Given the description of an element on the screen output the (x, y) to click on. 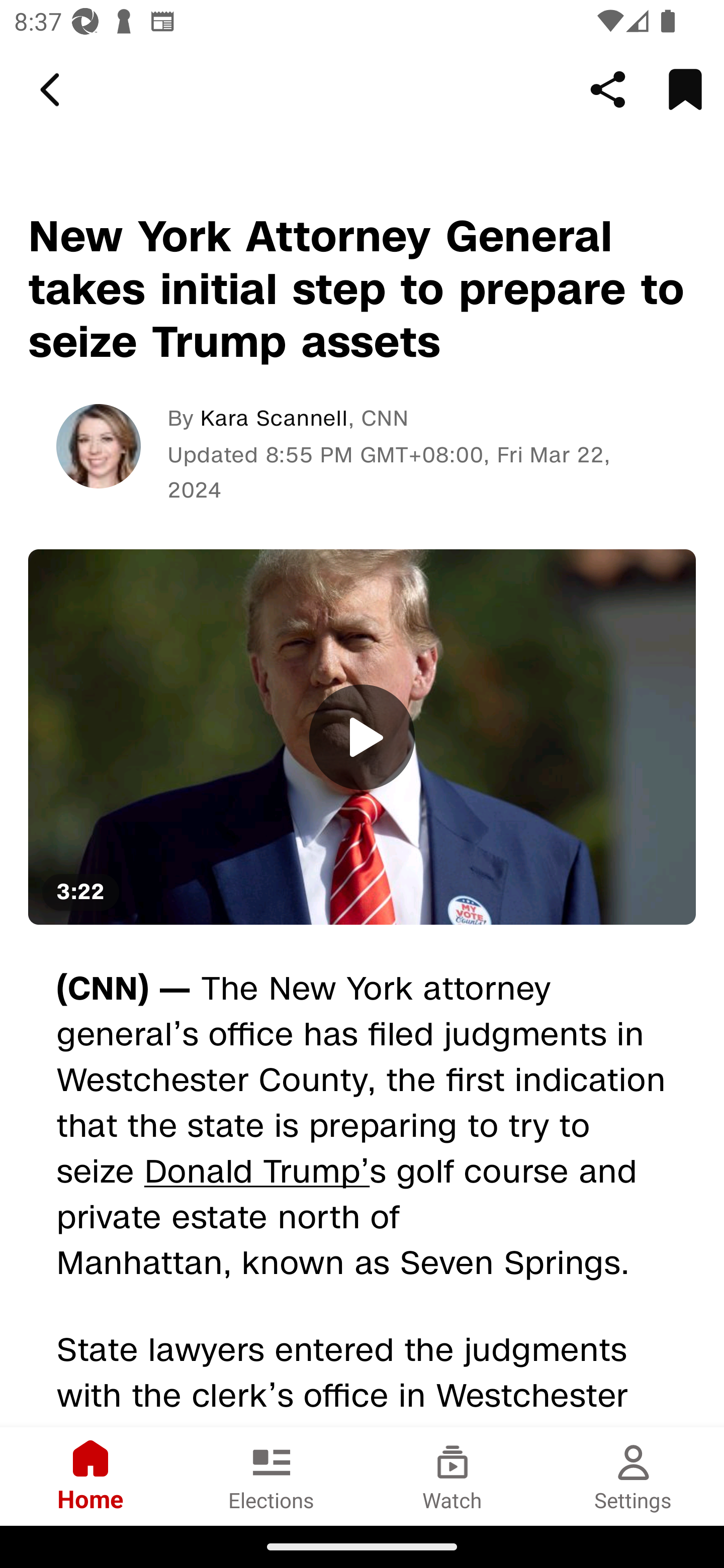
Back Button (52, 89)
Share (607, 89)
Bookmark Selected (685, 89)
Elections (271, 1475)
Watch (452, 1475)
Settings (633, 1475)
